Given the description of an element on the screen output the (x, y) to click on. 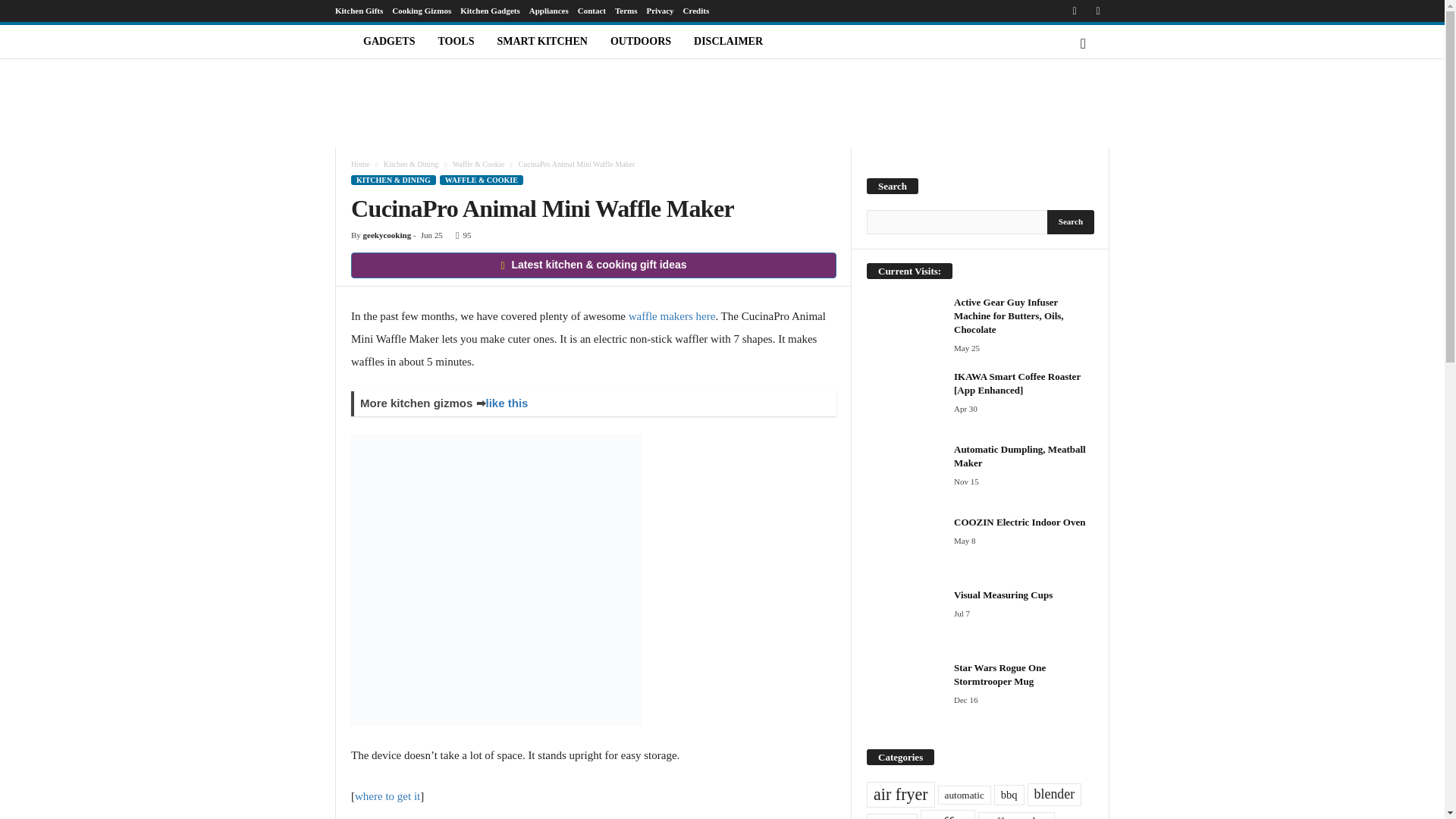
Kitchen Gadgets (489, 10)
Appliances (549, 10)
Cooking Gizmos (421, 10)
Search (1070, 221)
Kitchen Gifts (358, 10)
